Given the description of an element on the screen output the (x, y) to click on. 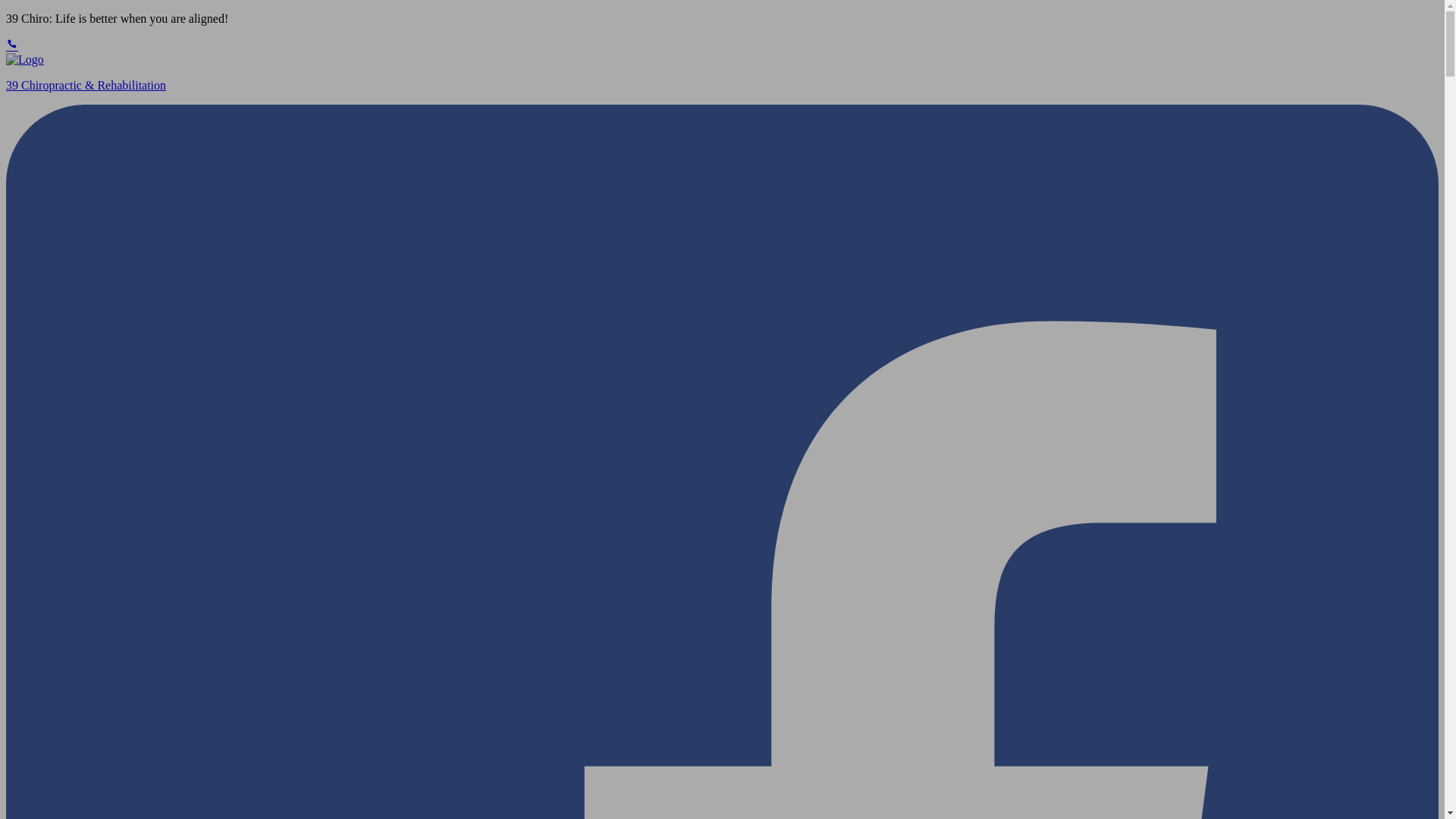
39 Chiropractic & Rehabilitation Element type: text (722, 72)
